Given the description of an element on the screen output the (x, y) to click on. 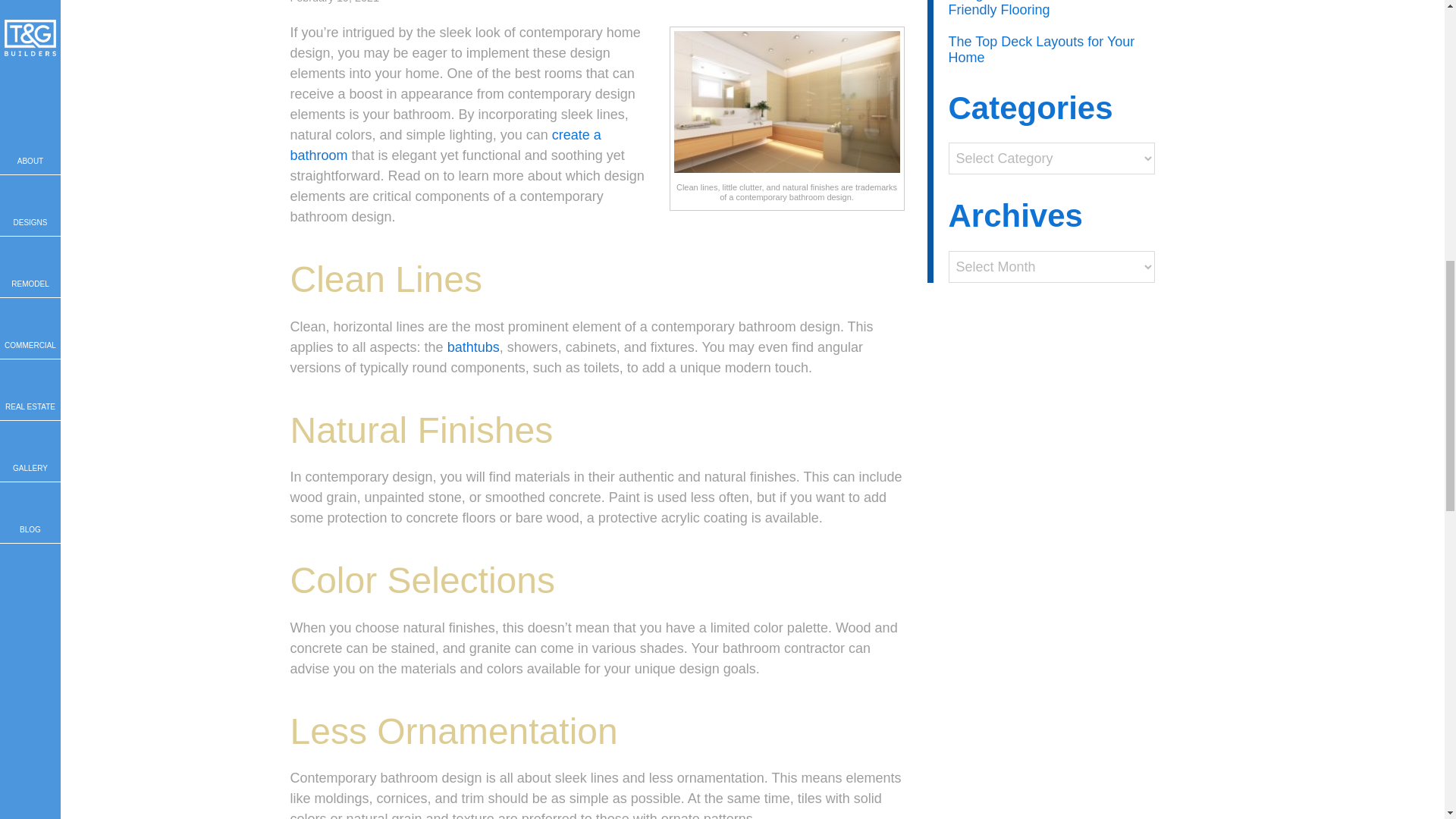
create a bathroom (444, 144)
bathtubs (472, 346)
